Given the description of an element on the screen output the (x, y) to click on. 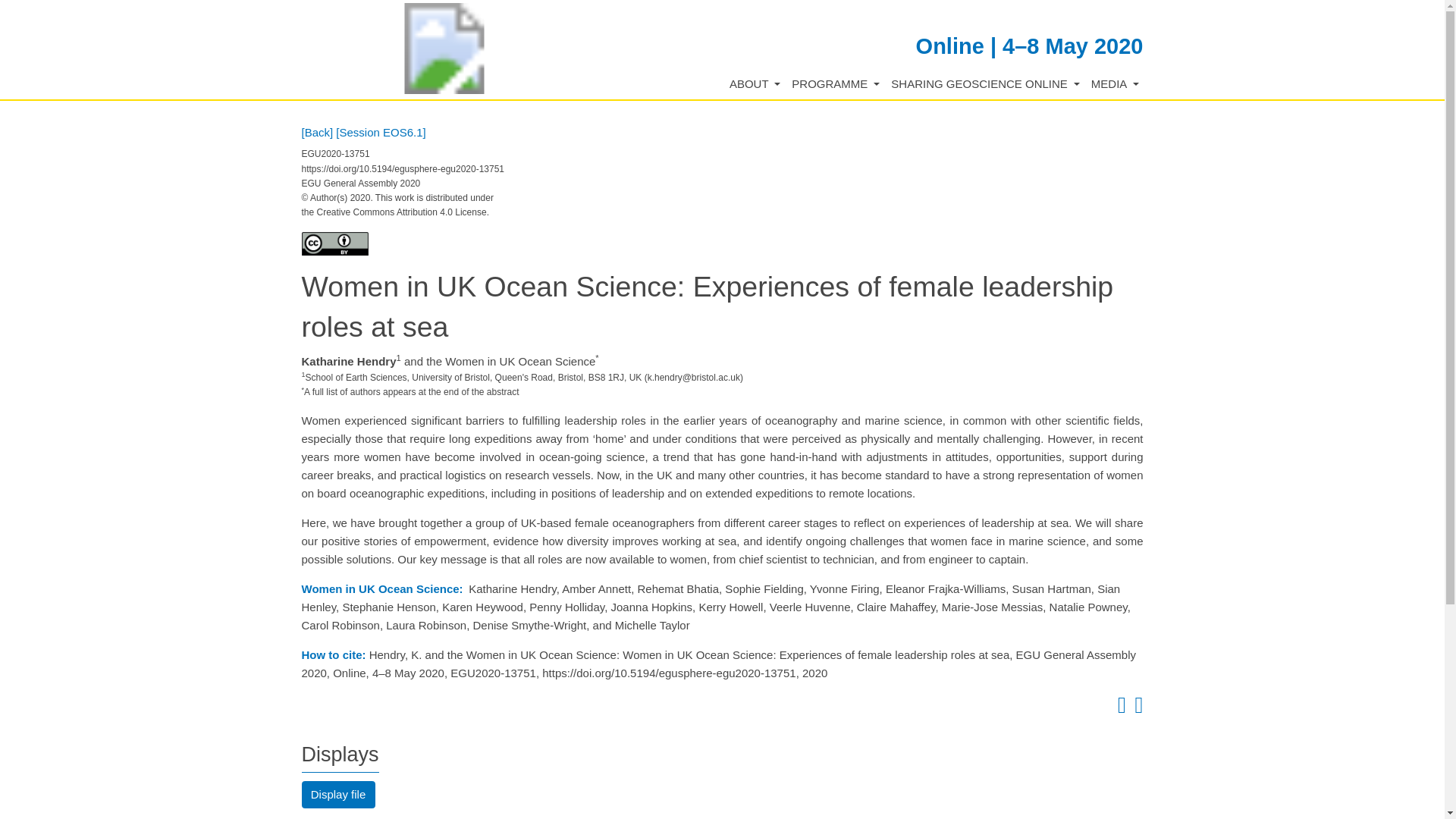
SHARING GEOSCIENCE ONLINE (985, 84)
Copy to clipboard (1118, 707)
ABOUT (754, 84)
Display file (338, 794)
PROGRAMME (835, 84)
MEDIA (1114, 84)
Open QR code linking to abstract URL (1135, 707)
